Given the description of an element on the screen output the (x, y) to click on. 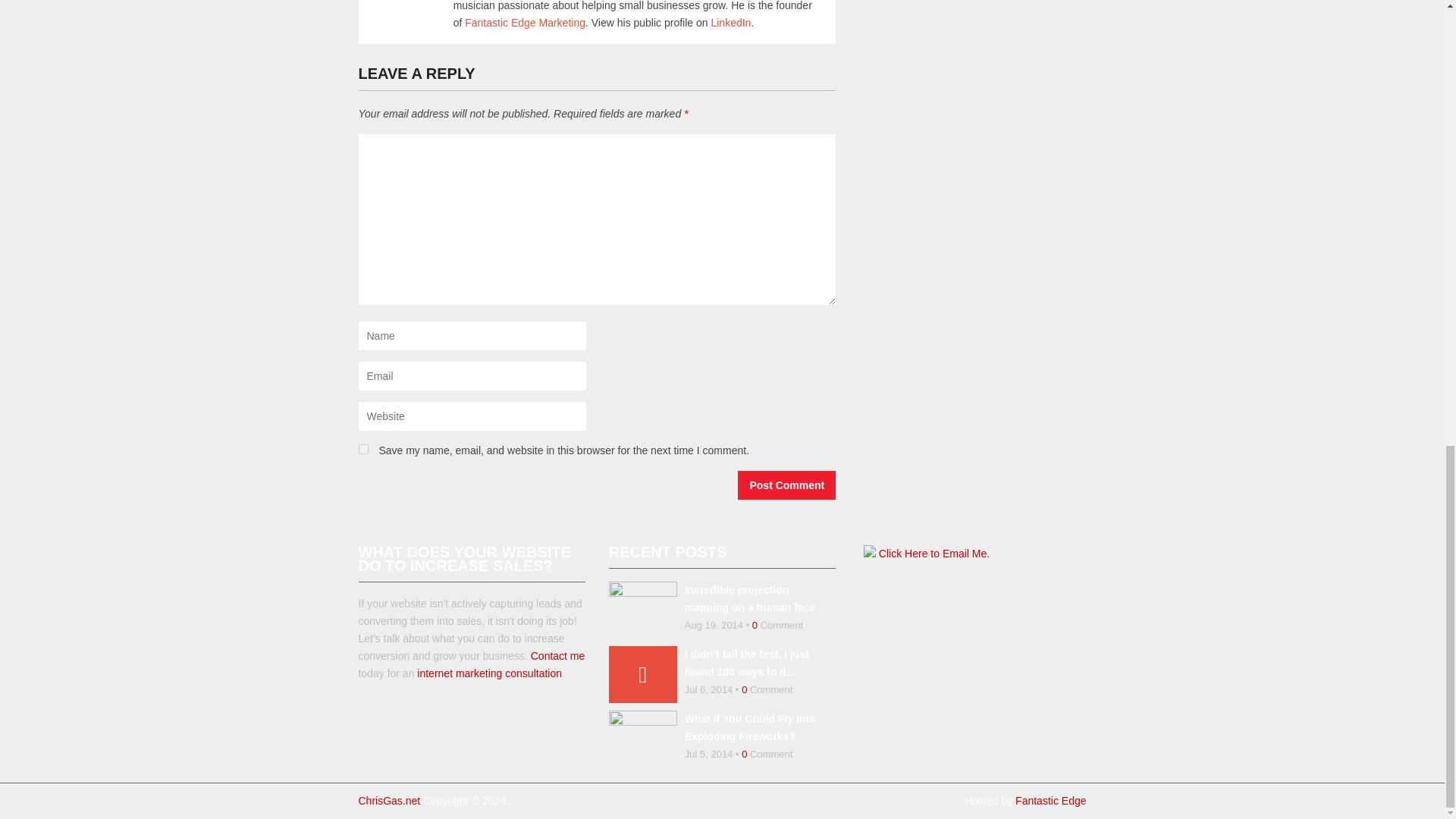
Post Comment (786, 484)
yes (363, 449)
Post Comment (786, 484)
LinkedIn (730, 22)
Fantastic Edge Marketing (524, 22)
